Given the description of an element on the screen output the (x, y) to click on. 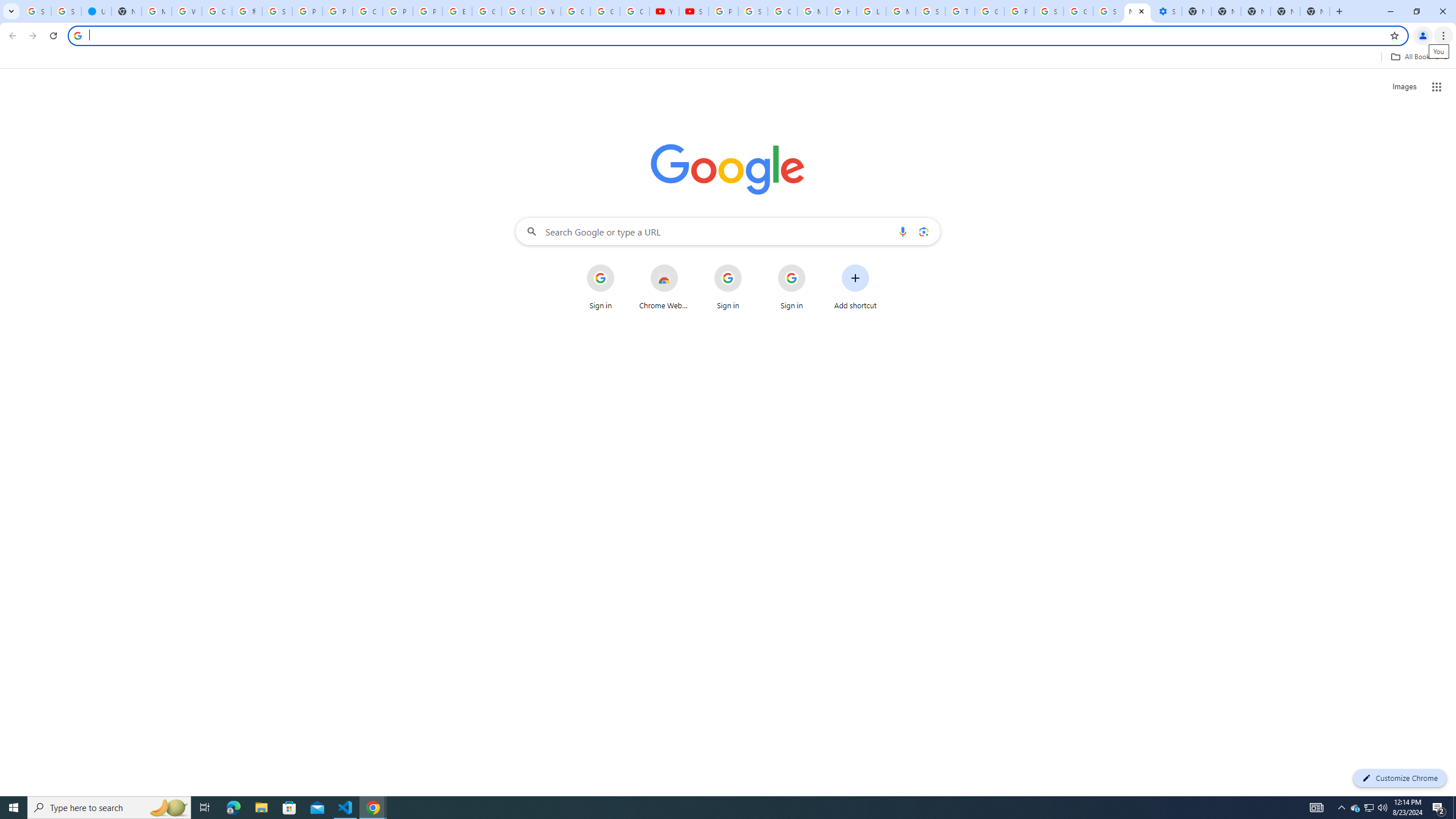
Search by image (922, 230)
Sign in - Google Accounts (277, 11)
Who is my administrator? - Google Account Help (185, 11)
Add shortcut (855, 287)
Welcome to My Activity (545, 11)
YouTube (664, 11)
Edit and view right-to-left text - Google Docs Editors Help (456, 11)
Search icon (77, 35)
